Given the description of an element on the screen output the (x, y) to click on. 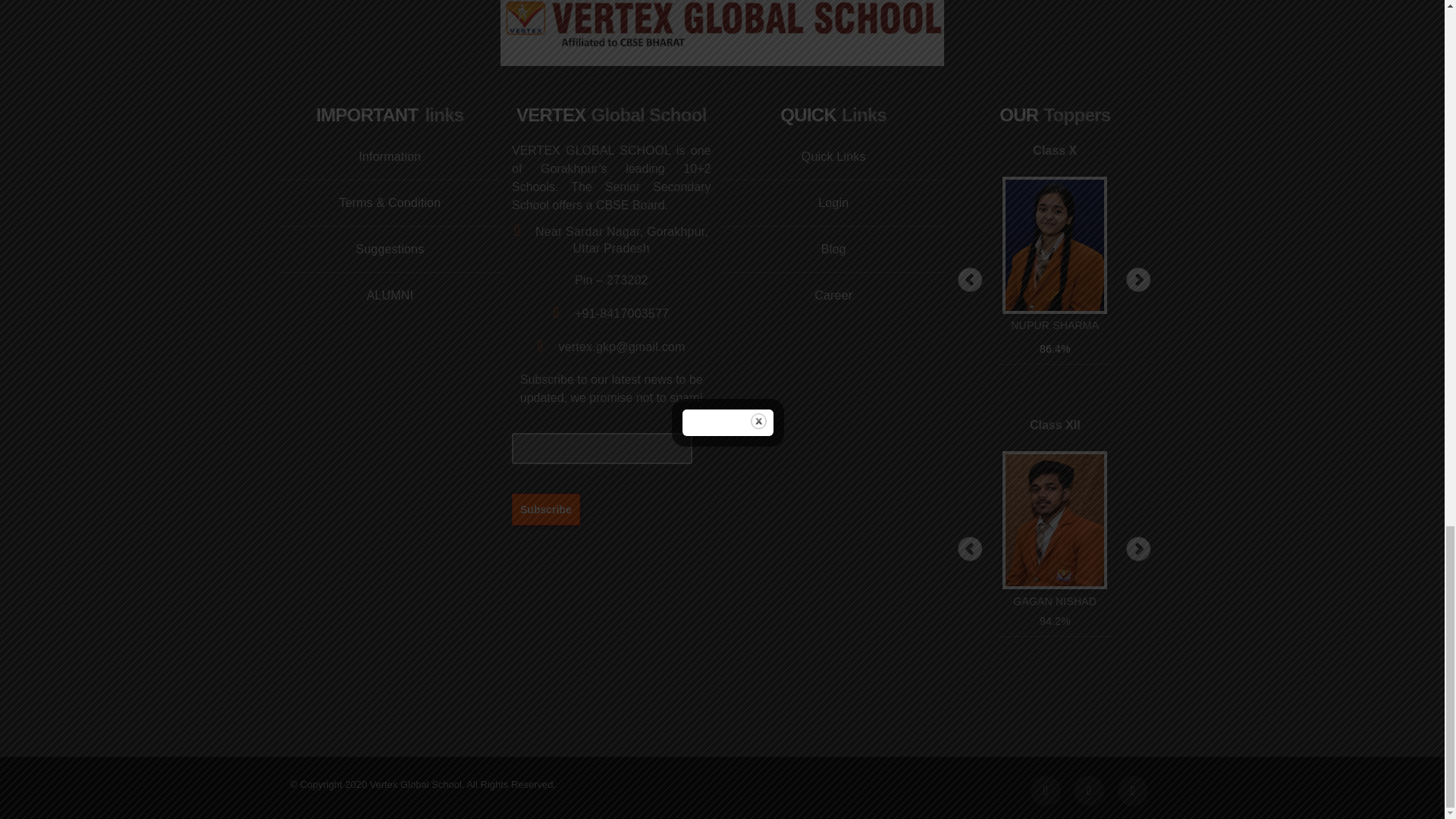
Subscribe (545, 508)
